Given the description of an element on the screen output the (x, y) to click on. 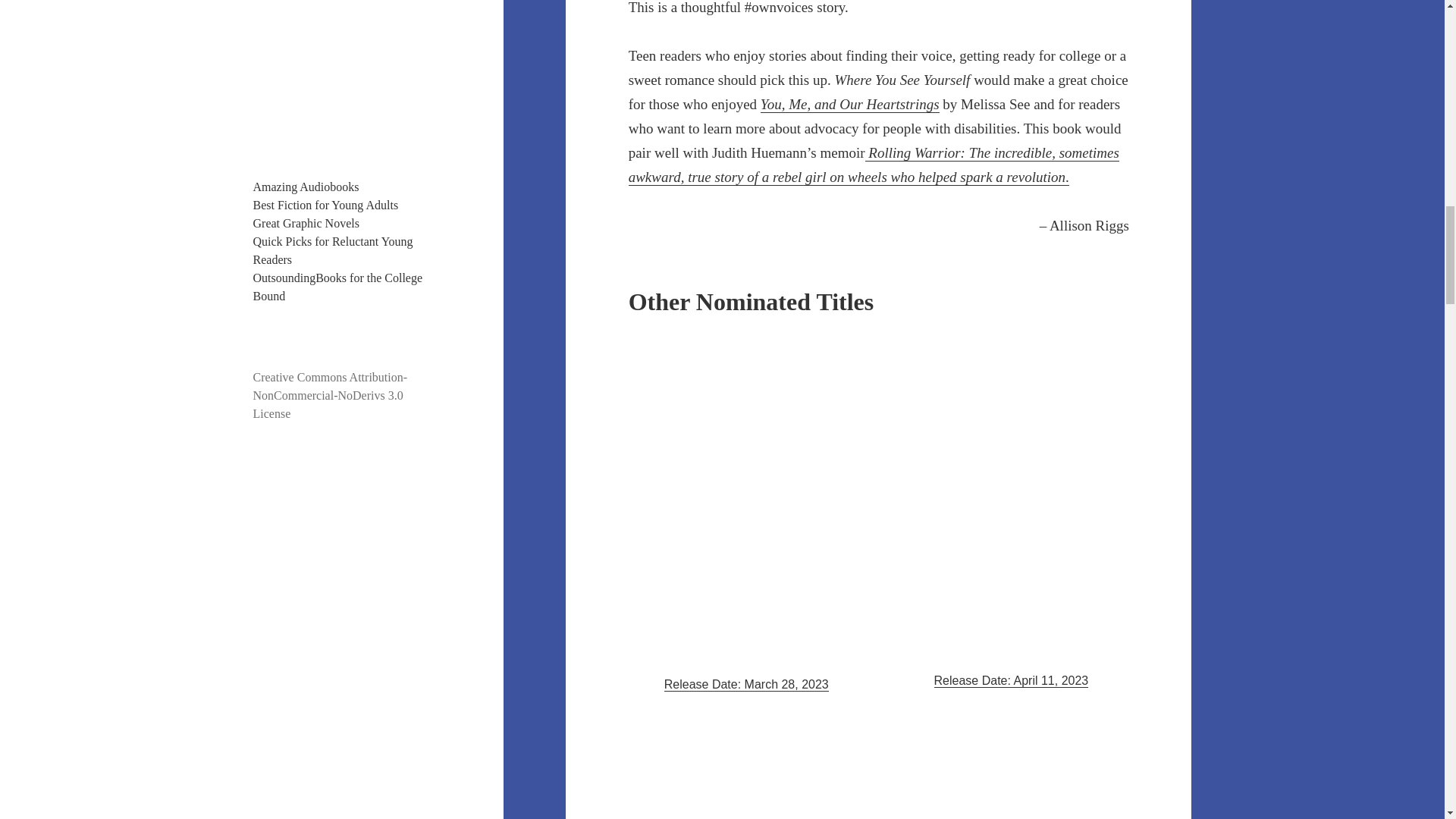
Best Fiction for Young Adults (325, 205)
Great Graphic Novels (306, 223)
You, Me, and Our Heartstrings (849, 104)
OutsoundingBooks for the College Bound (338, 286)
Amazing Audiobooks (306, 186)
Quick Picks for Reluctant Young Readers (333, 250)
Release Date: March 28, 2023 (745, 684)
